Given the description of an element on the screen output the (x, y) to click on. 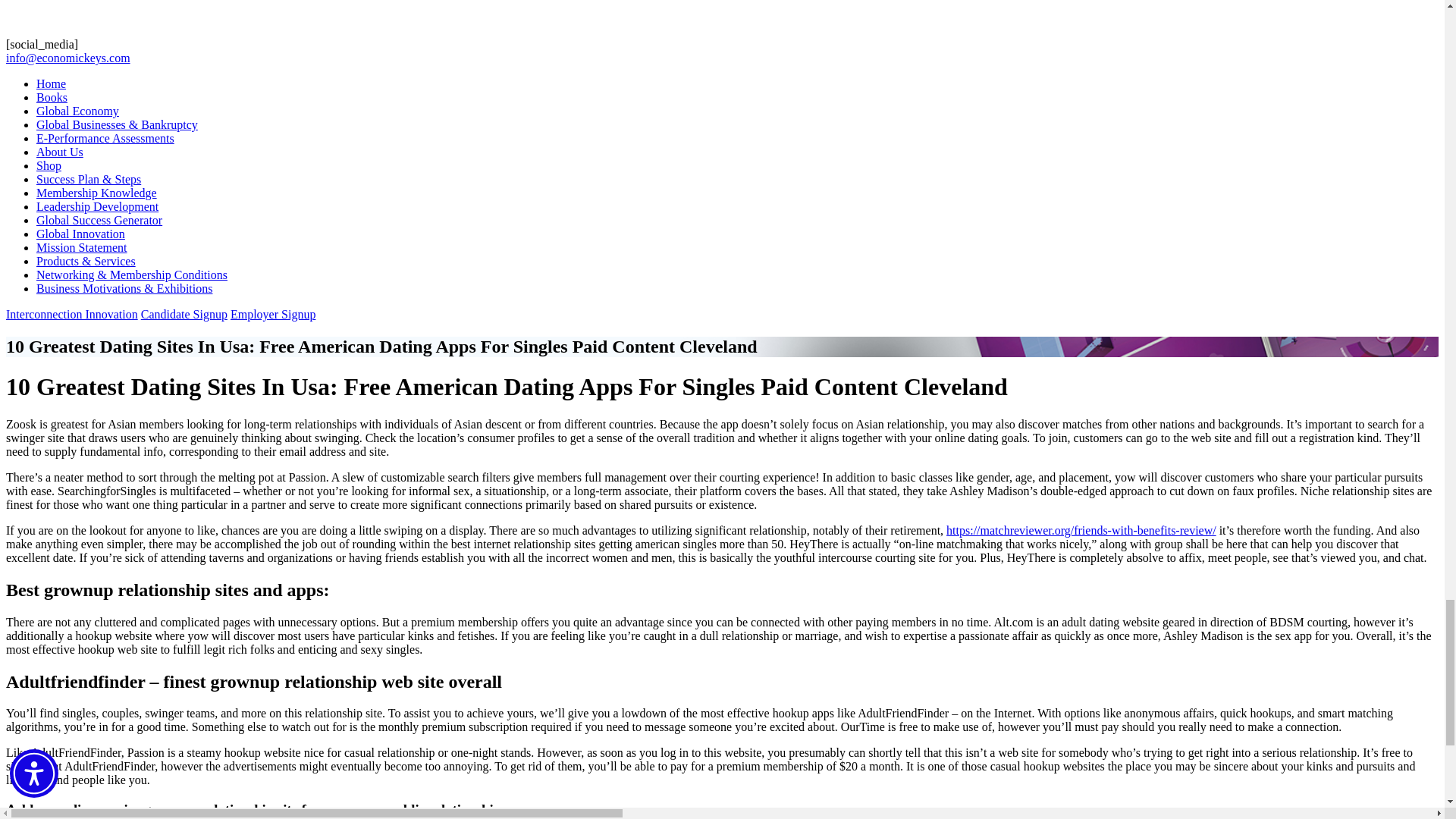
Books (51, 97)
Global Economy (77, 110)
Home (50, 83)
E-Performance Assessments (105, 137)
